Given the description of an element on the screen output the (x, y) to click on. 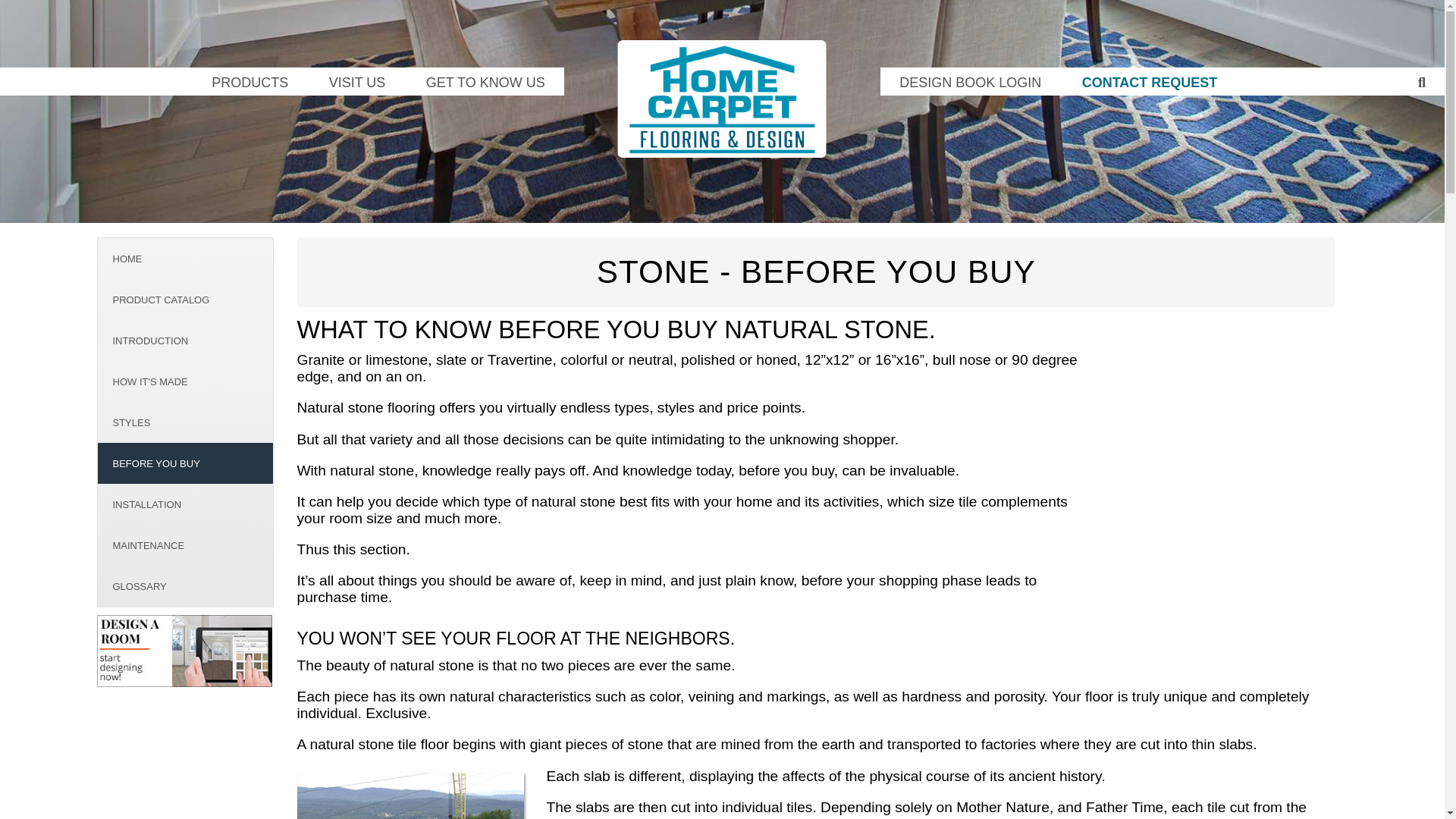
DESIGN BOOK LOGIN (969, 81)
VISIT US (357, 81)
MAINTENANCE (184, 544)
GET TO KNOW US (485, 81)
INTRODUCTION (184, 340)
YouTube video player (1221, 475)
CONTACT REQUEST (1149, 81)
HOW IT'S MADE (184, 381)
INSTALLATION (184, 504)
HOME (184, 258)
GLOSSARY (184, 585)
BEFORE YOU BUY (184, 463)
PRODUCTS (249, 81)
PRODUCT CATALOG (184, 299)
STYLES (184, 422)
